Given the description of an element on the screen output the (x, y) to click on. 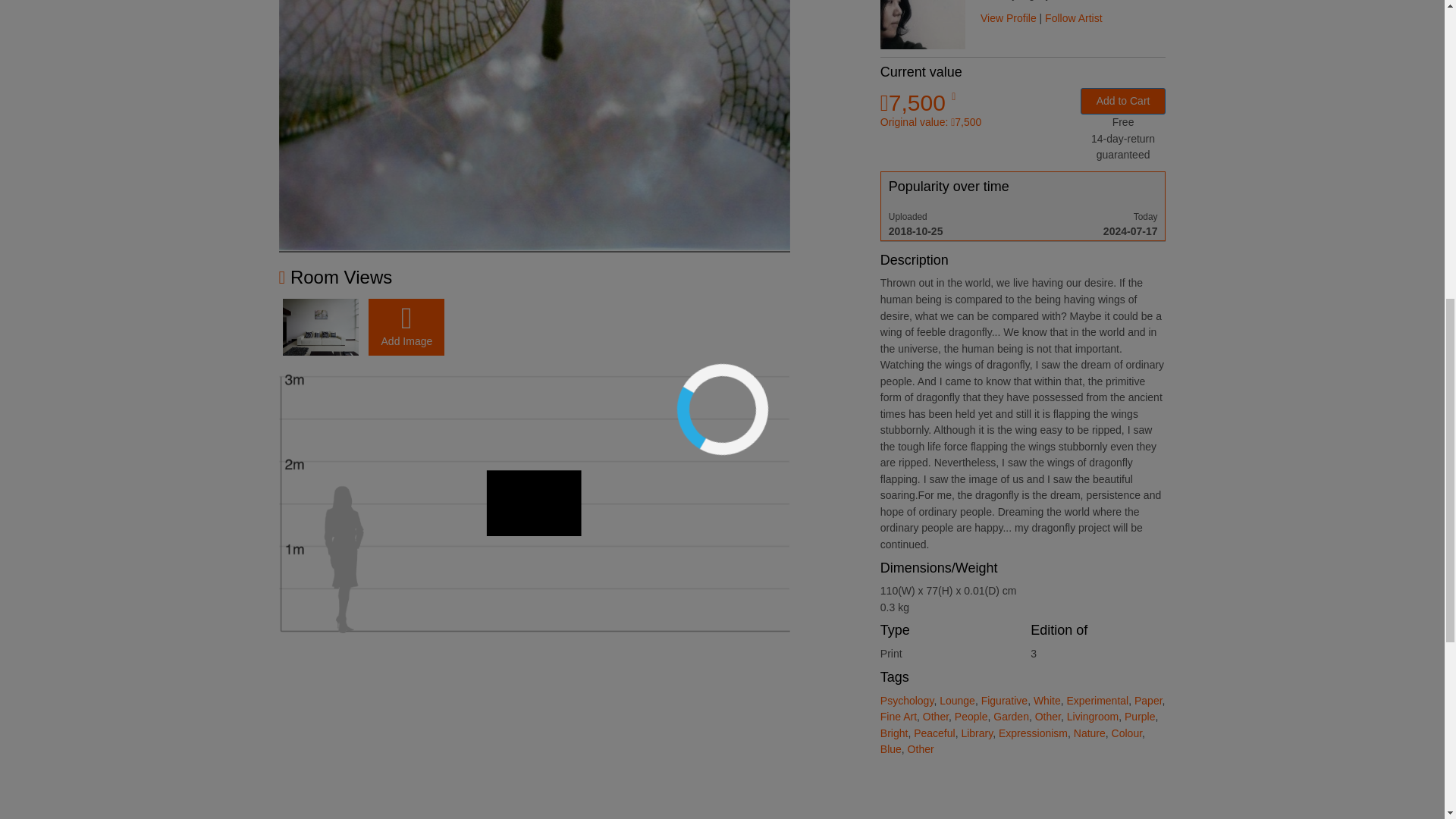
Follow the artist (1073, 18)
